Given the description of an element on the screen output the (x, y) to click on. 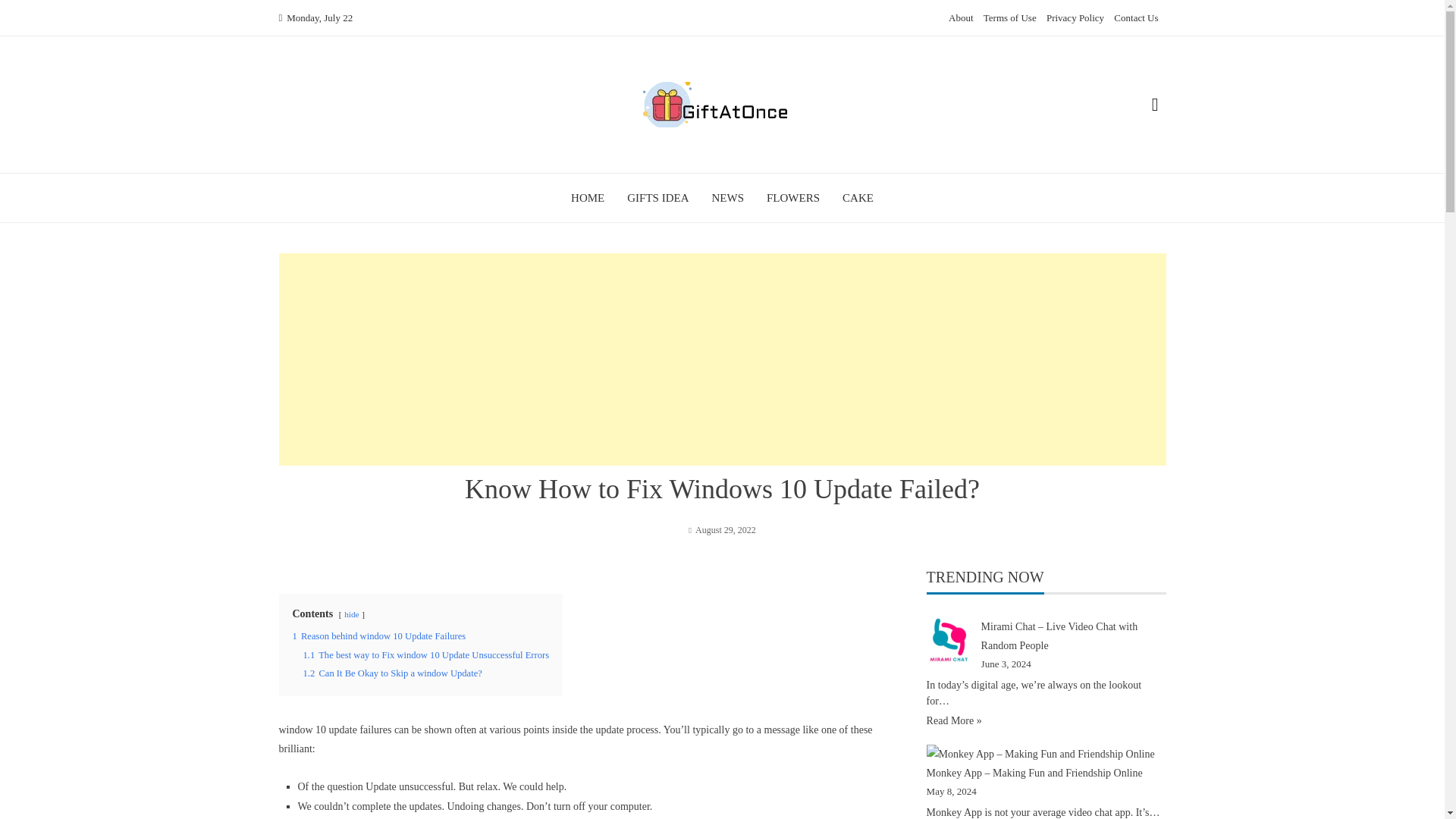
Terms of Use (1010, 17)
1.2 Can It Be Okay to Skip a window Update? (391, 673)
Privacy Policy (1074, 17)
Contact Us (1135, 17)
GIFTS IDEA (657, 197)
1.1 The best way to Fix window 10 Update Unsuccessful Errors (426, 655)
CAKE (858, 197)
FLOWERS (793, 197)
hide (350, 614)
About (961, 17)
1 Reason behind window 10 Update Failures (378, 635)
HOME (587, 197)
NEWS (727, 197)
